Given the description of an element on the screen output the (x, y) to click on. 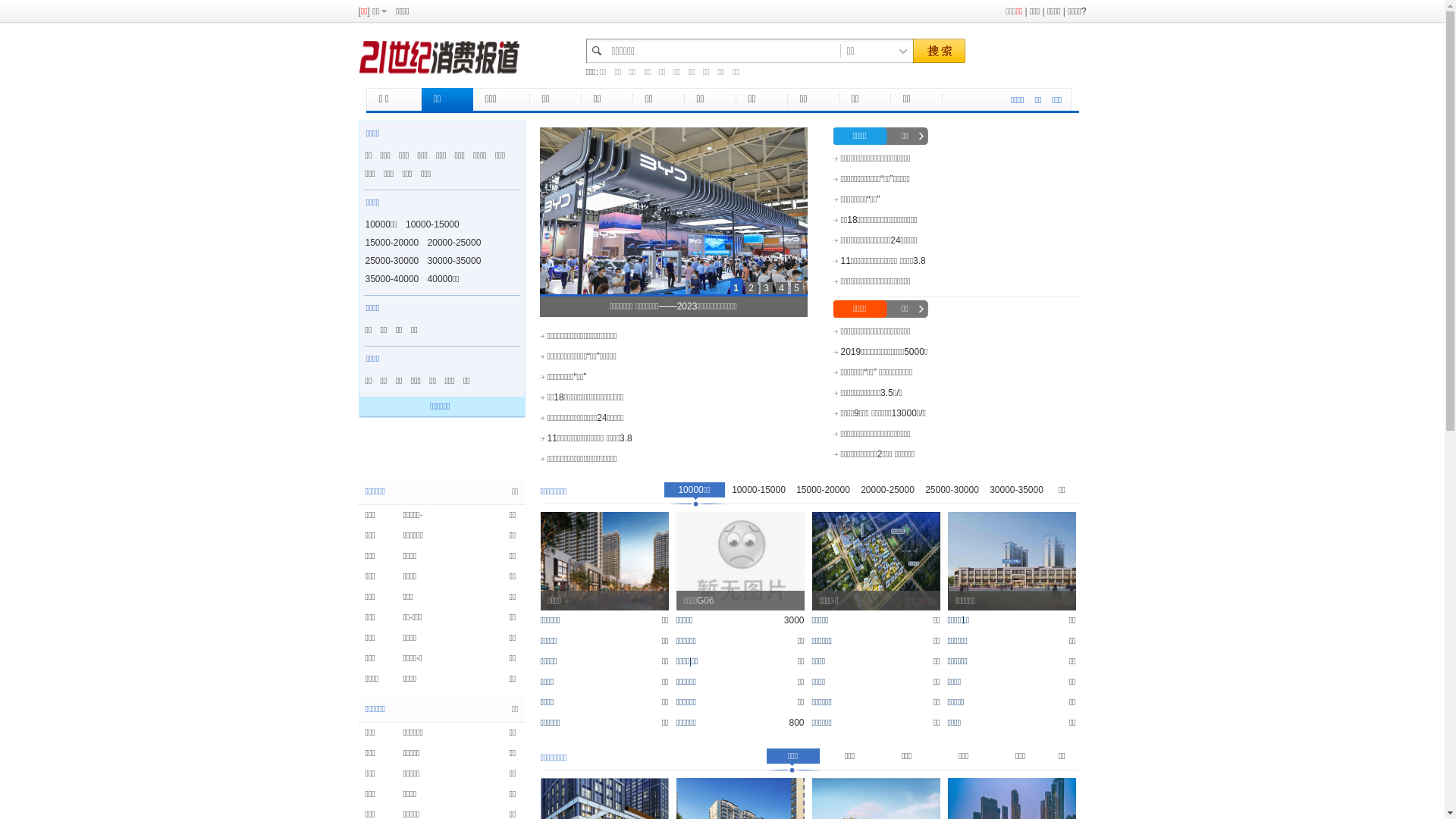
10000-15000 Element type: text (758, 494)
20000-25000 Element type: text (454, 242)
25000-30000 Element type: text (392, 260)
15000-20000 Element type: text (392, 242)
25000-30000 Element type: text (952, 494)
20000-25000 Element type: text (886, 494)
10000-15000 Element type: text (432, 224)
30000-35000 Element type: text (1015, 494)
35000-40000 Element type: text (392, 278)
30000-35000 Element type: text (454, 260)
  Element type: text (937, 51)
15000-20000 Element type: text (823, 494)
